Given the description of an element on the screen output the (x, y) to click on. 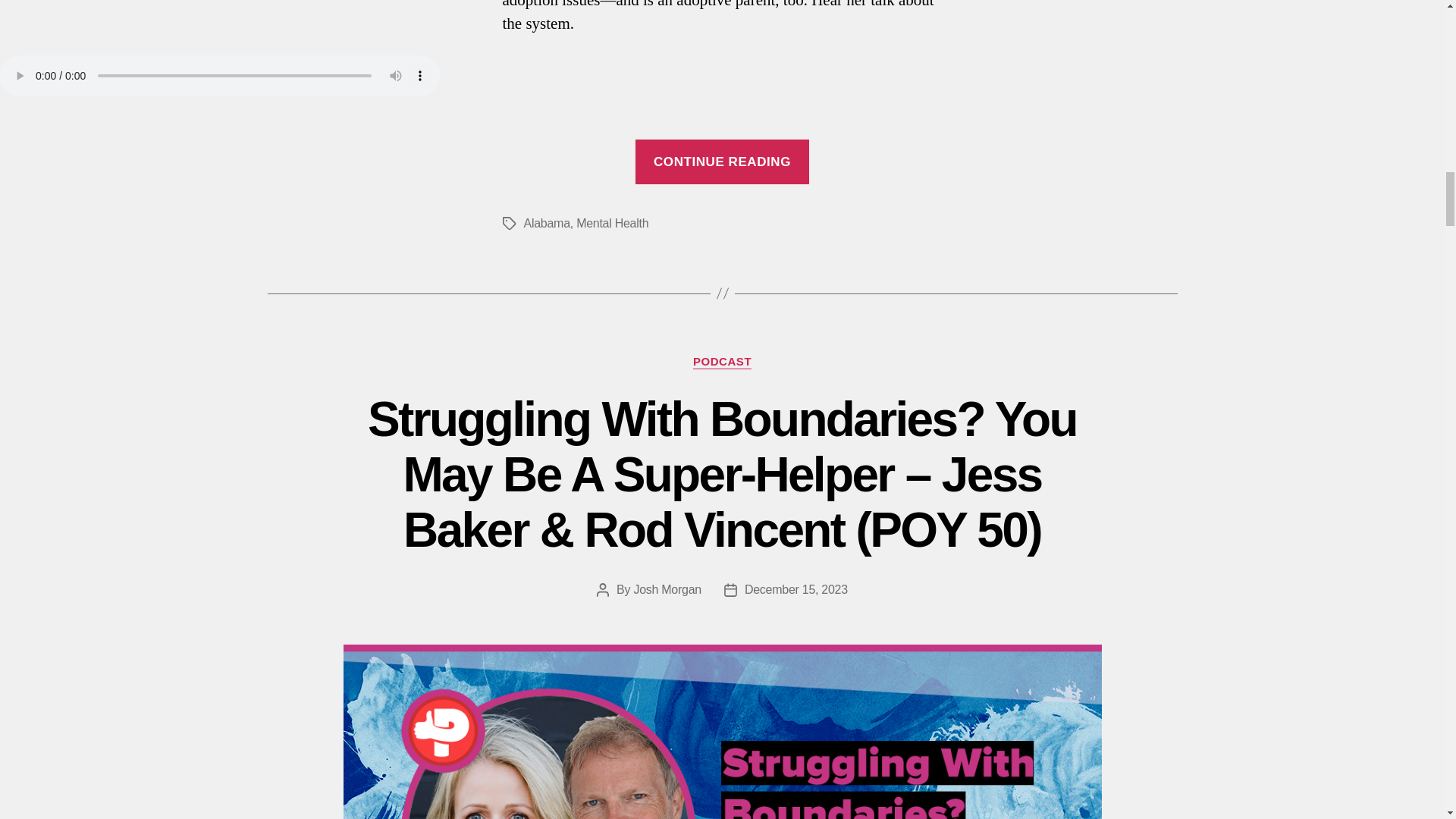
Josh Morgan (667, 589)
December 15, 2023 (795, 589)
PODCAST (722, 362)
Alabama (545, 223)
Mental Health (611, 223)
